Given the description of an element on the screen output the (x, y) to click on. 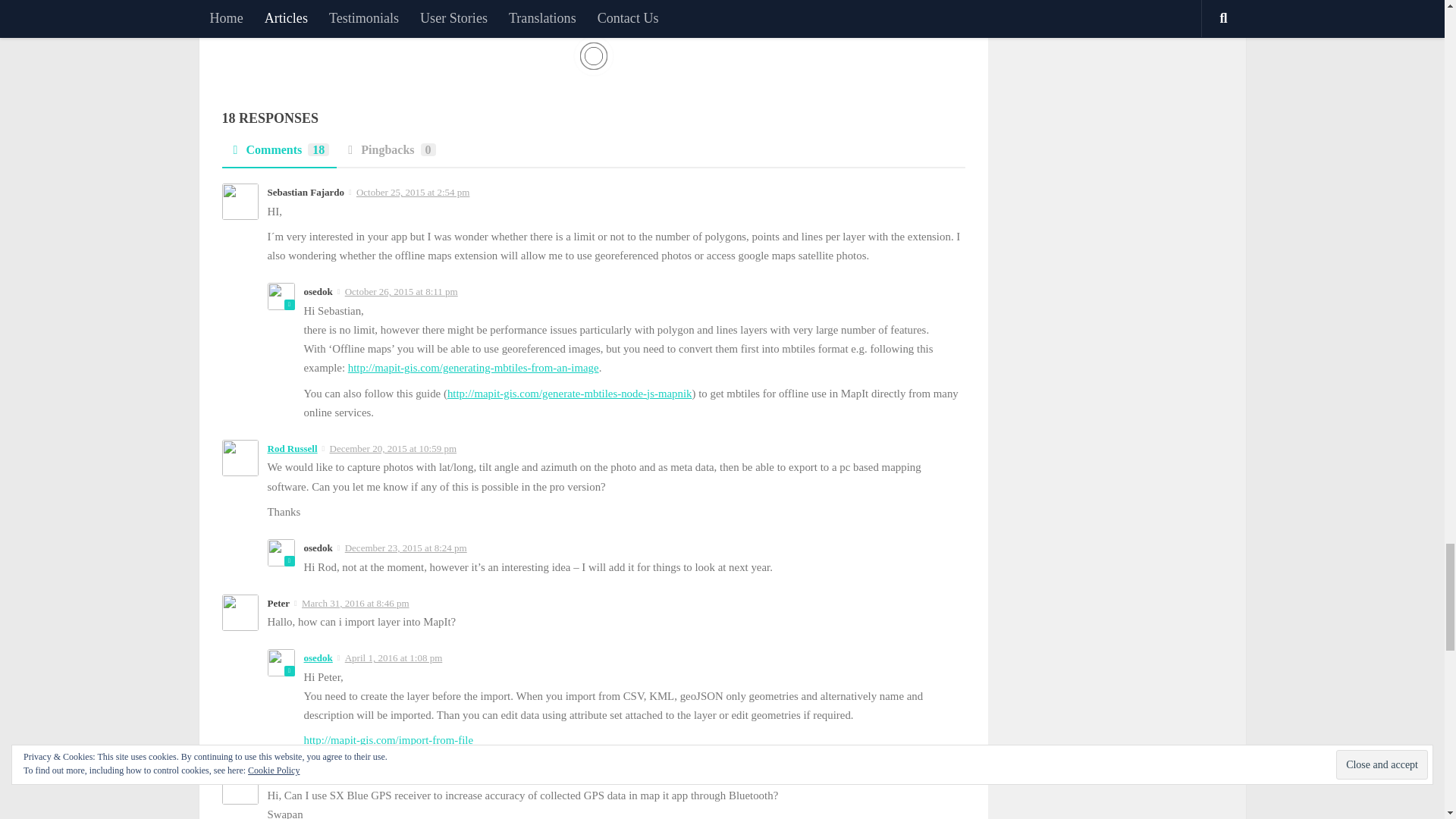
October 26, 2015 at 8:11 pm (401, 291)
October 25, 2015 at 2:54 pm (412, 192)
December 23, 2015 at 8:24 pm (406, 547)
Rod Russell (291, 448)
Comments18 (278, 154)
December 20, 2015 at 10:59 pm (393, 448)
Pingbacks0 (389, 154)
